Given the description of an element on the screen output the (x, y) to click on. 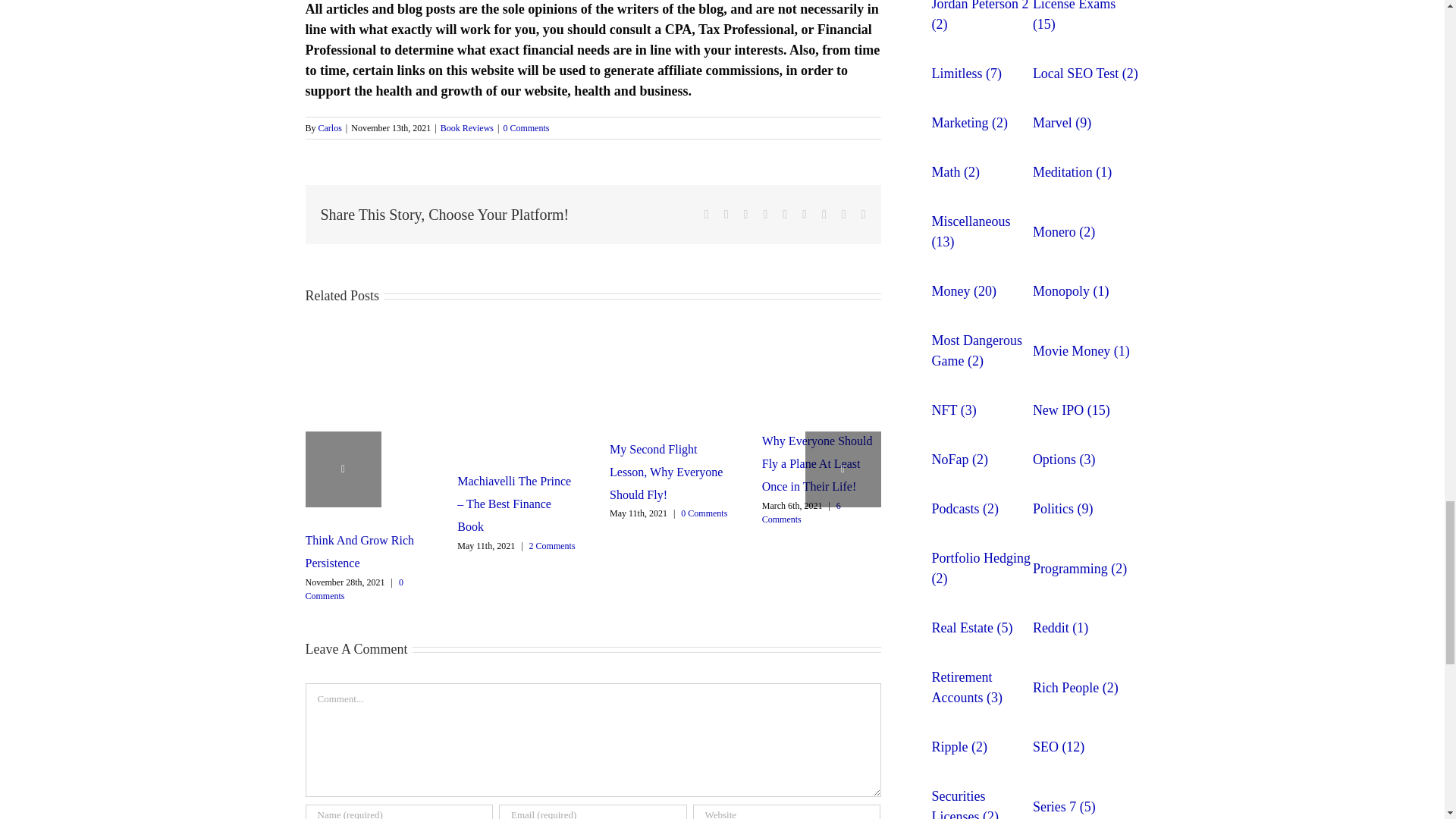
Why Everyone Should Fly a Plane At Least Once in Their Life! (816, 463)
Posts by Carlos (330, 127)
My Second Flight Lesson, Why Everyone Should Fly! (666, 472)
Think And Grow Rich Persistence (358, 551)
